Given the description of an element on the screen output the (x, y) to click on. 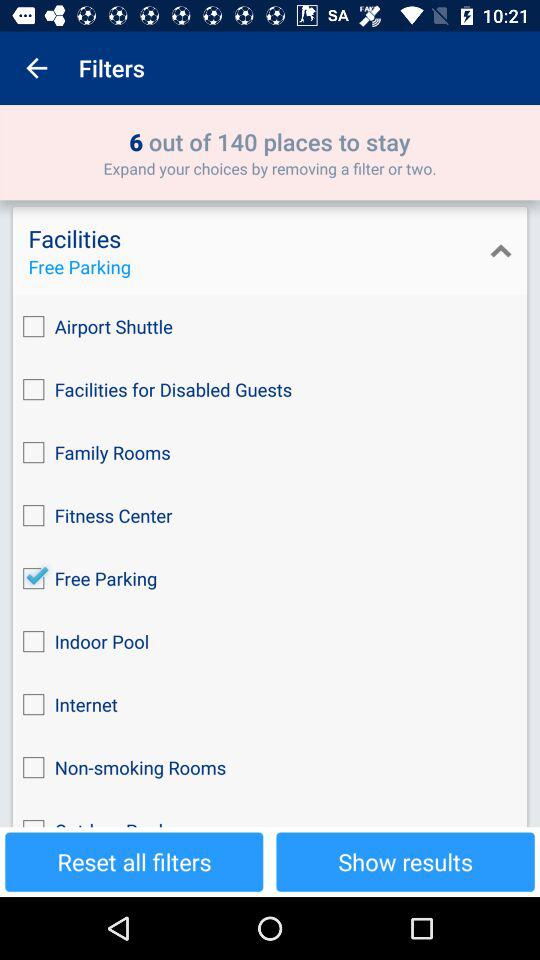
press non-smoking rooms icon (269, 767)
